Given the description of an element on the screen output the (x, y) to click on. 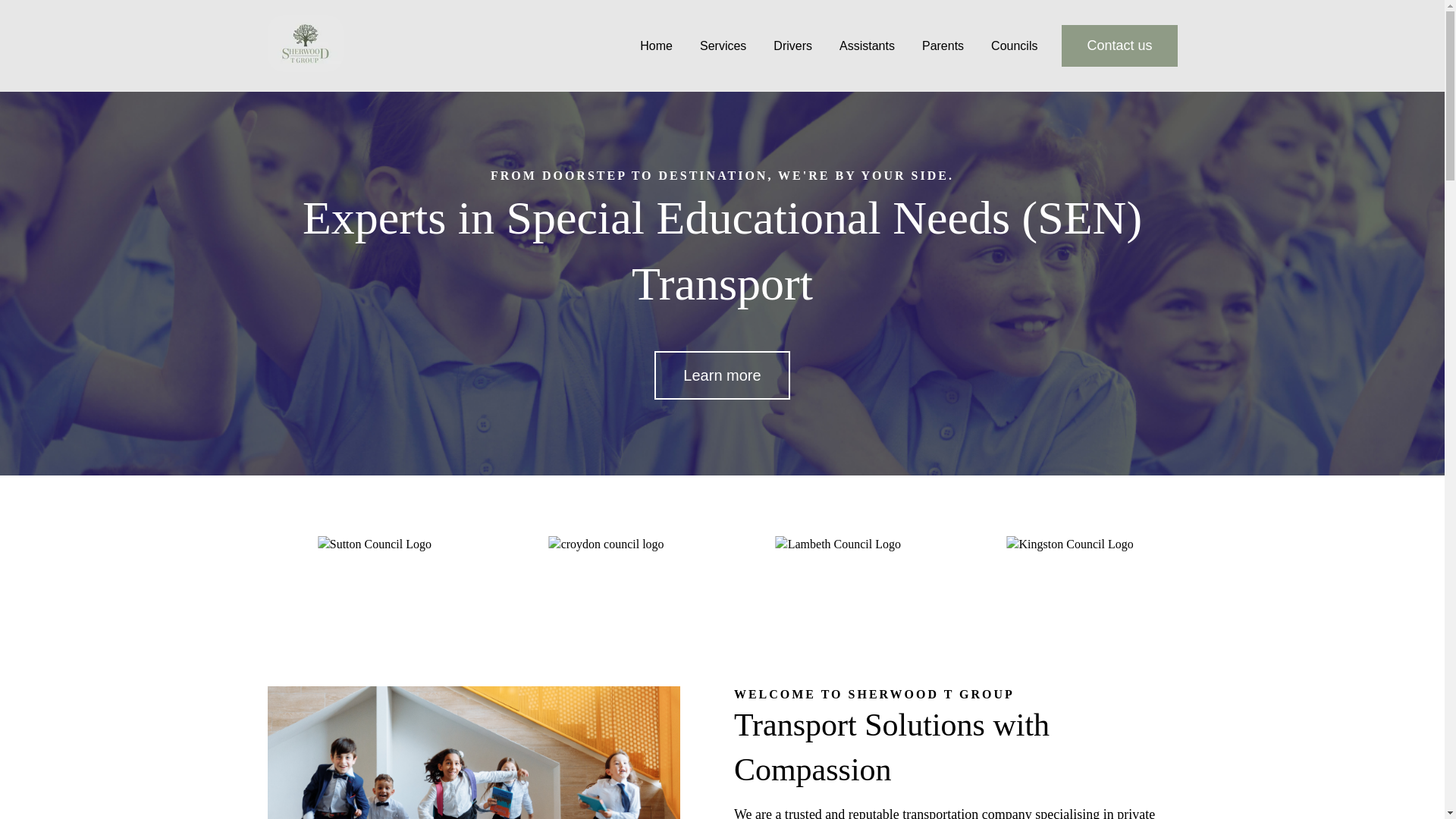
Learn more (721, 375)
Home (656, 45)
Parents (942, 45)
Services (722, 45)
Assistants (867, 45)
Drivers (792, 45)
Website Header Sherwood (472, 752)
Contact us (1118, 45)
Councils (1013, 45)
